Given the description of an element on the screen output the (x, y) to click on. 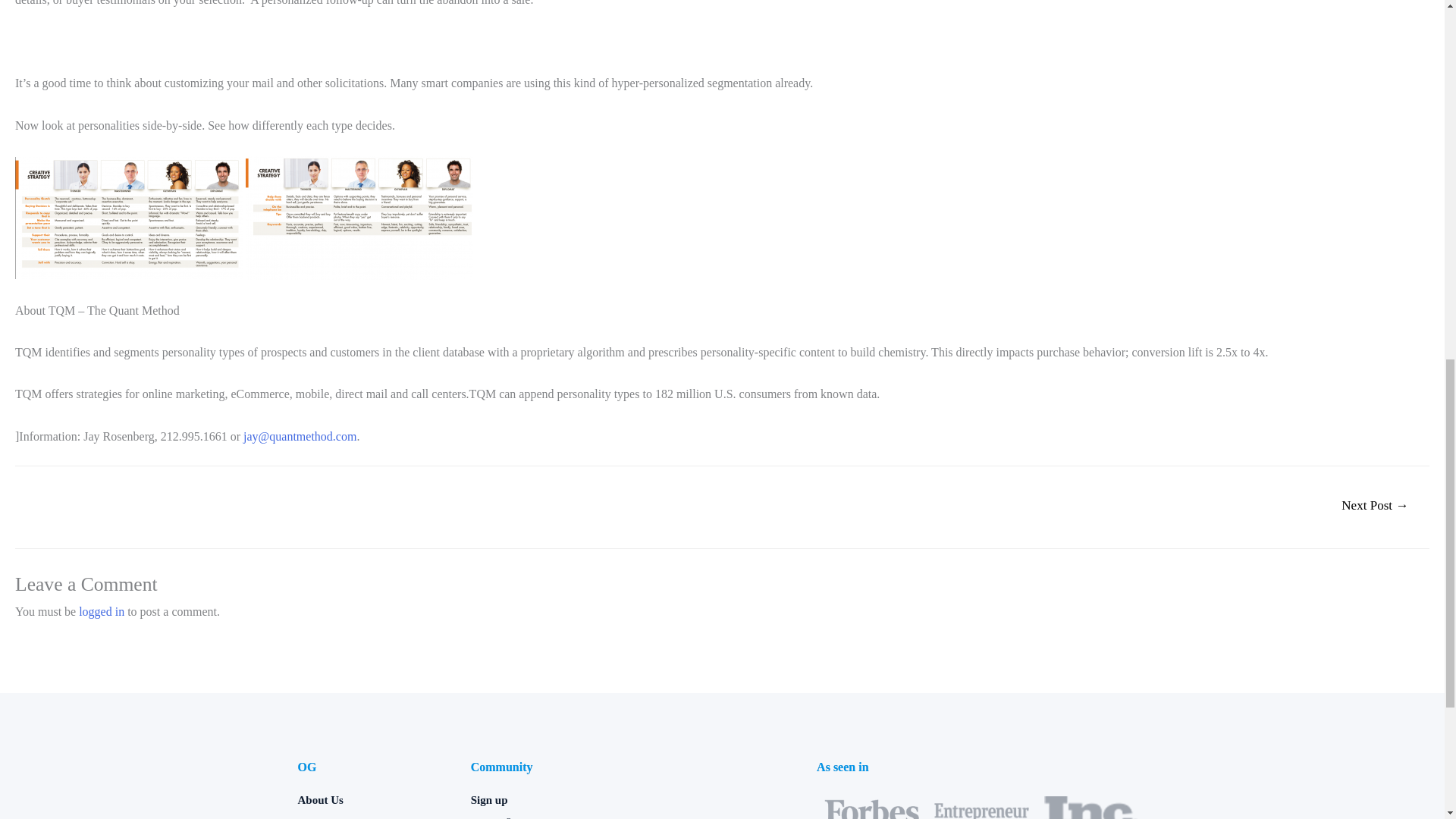
About Us (375, 799)
Sign up (549, 799)
Blog (375, 815)
Login (549, 815)
logged in (100, 611)
